Given the description of an element on the screen output the (x, y) to click on. 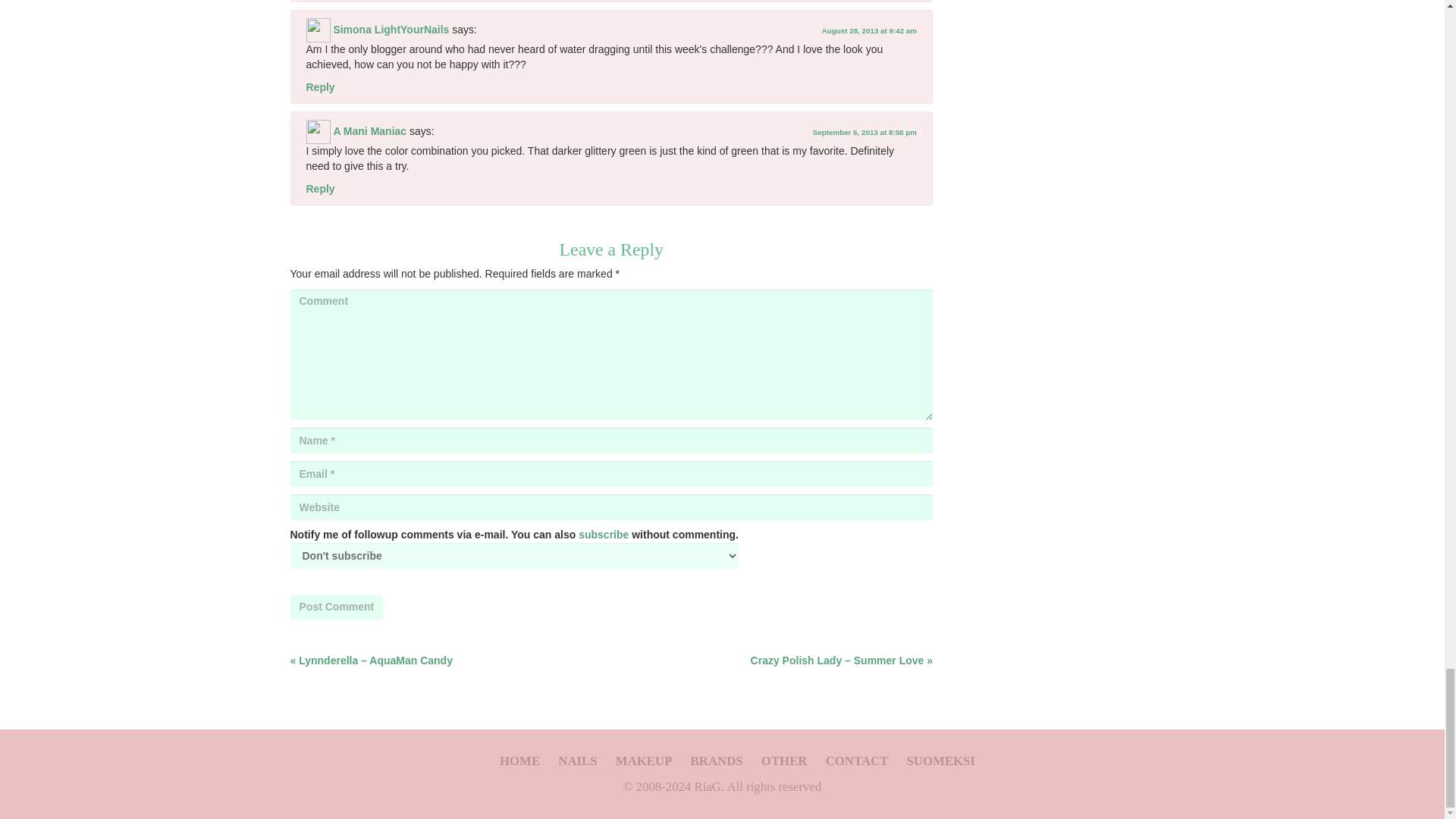
Post Comment (335, 607)
